Given the description of an element on the screen output the (x, y) to click on. 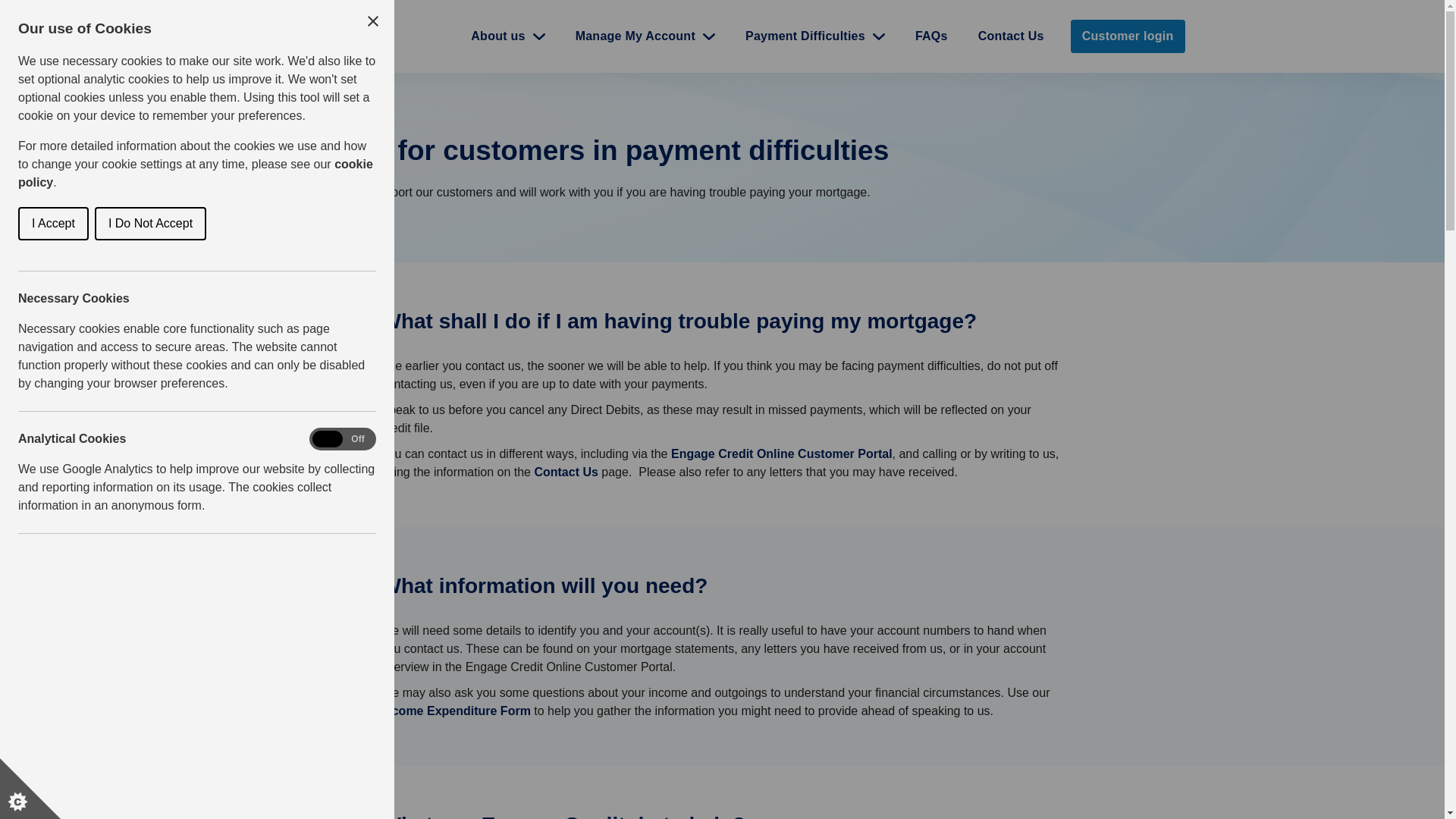
Engage Credit Online Customer Portal (781, 453)
Contact Us (1011, 36)
Manage My Account (645, 36)
Customer login (1127, 36)
FAQs (931, 36)
Contact Us (565, 472)
About us (507, 36)
Income Expenditure Form (454, 710)
Payment Difficulties (814, 36)
